Given the description of an element on the screen output the (x, y) to click on. 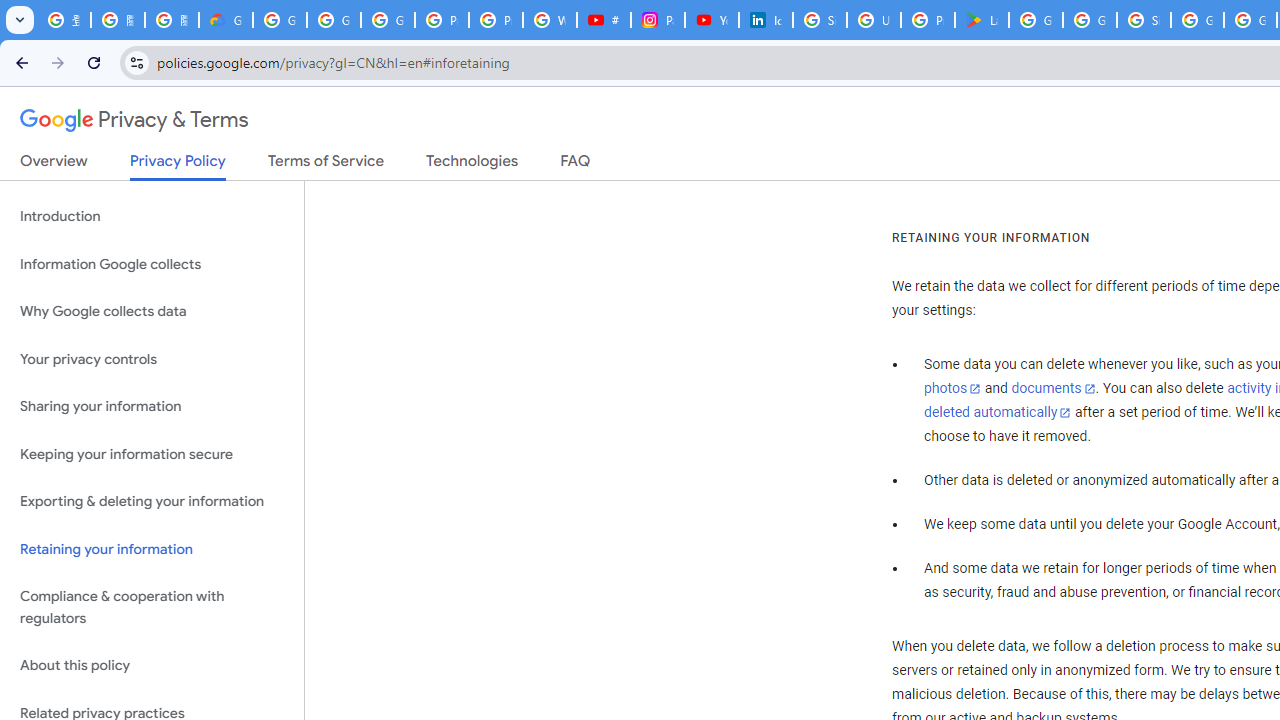
FAQ (575, 165)
YouTube Culture & Trends - On The Rise: Handcam Videos (711, 20)
Your privacy controls (152, 358)
Information Google collects (152, 263)
Terms of Service (326, 165)
Introduction (152, 216)
photos (952, 389)
Why Google collects data (152, 312)
Overview (54, 165)
Sharing your information (152, 407)
Retaining your information (152, 548)
